Given the description of an element on the screen output the (x, y) to click on. 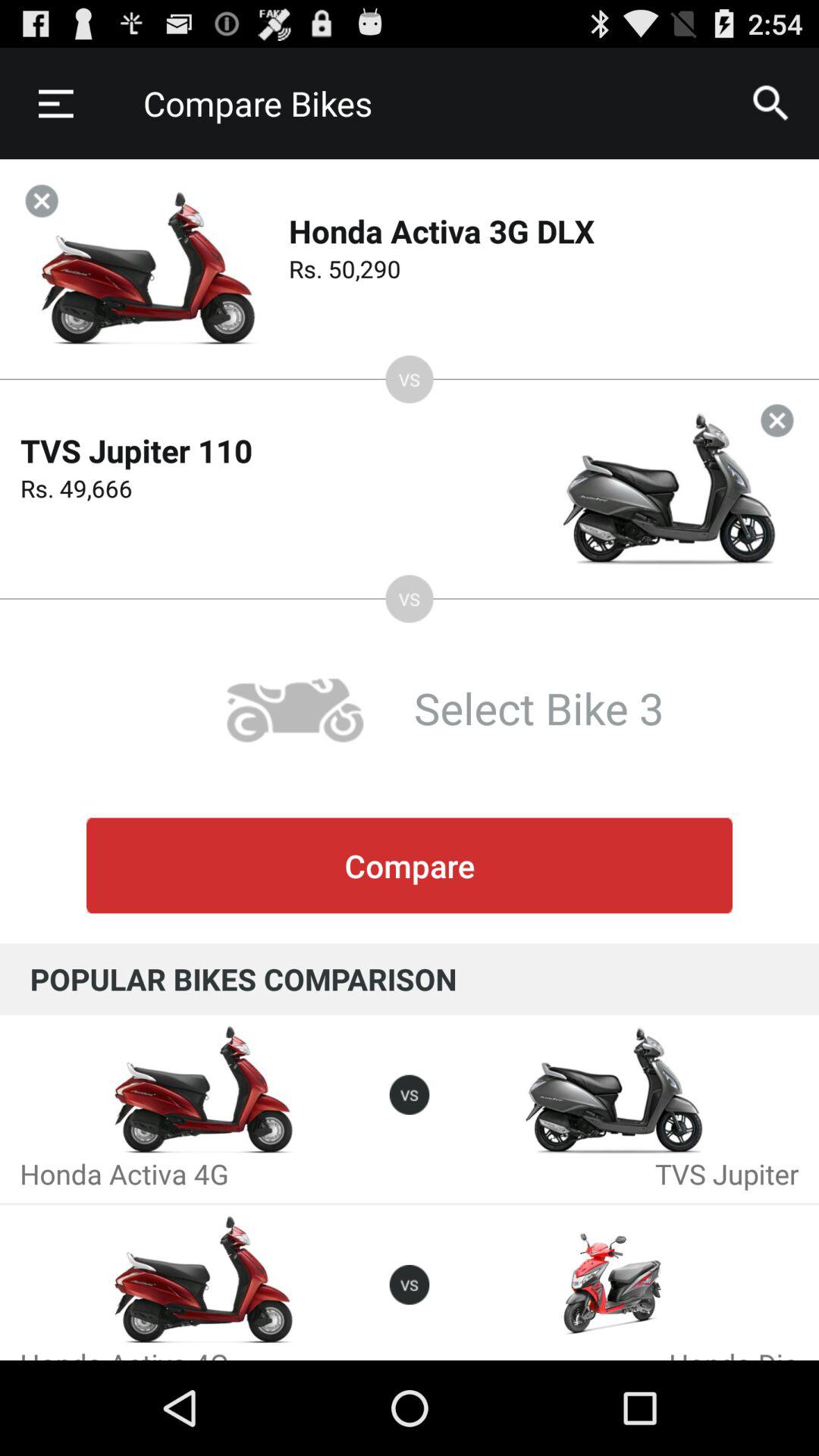
close tvs jupiter comparison (777, 420)
